Given the description of an element on the screen output the (x, y) to click on. 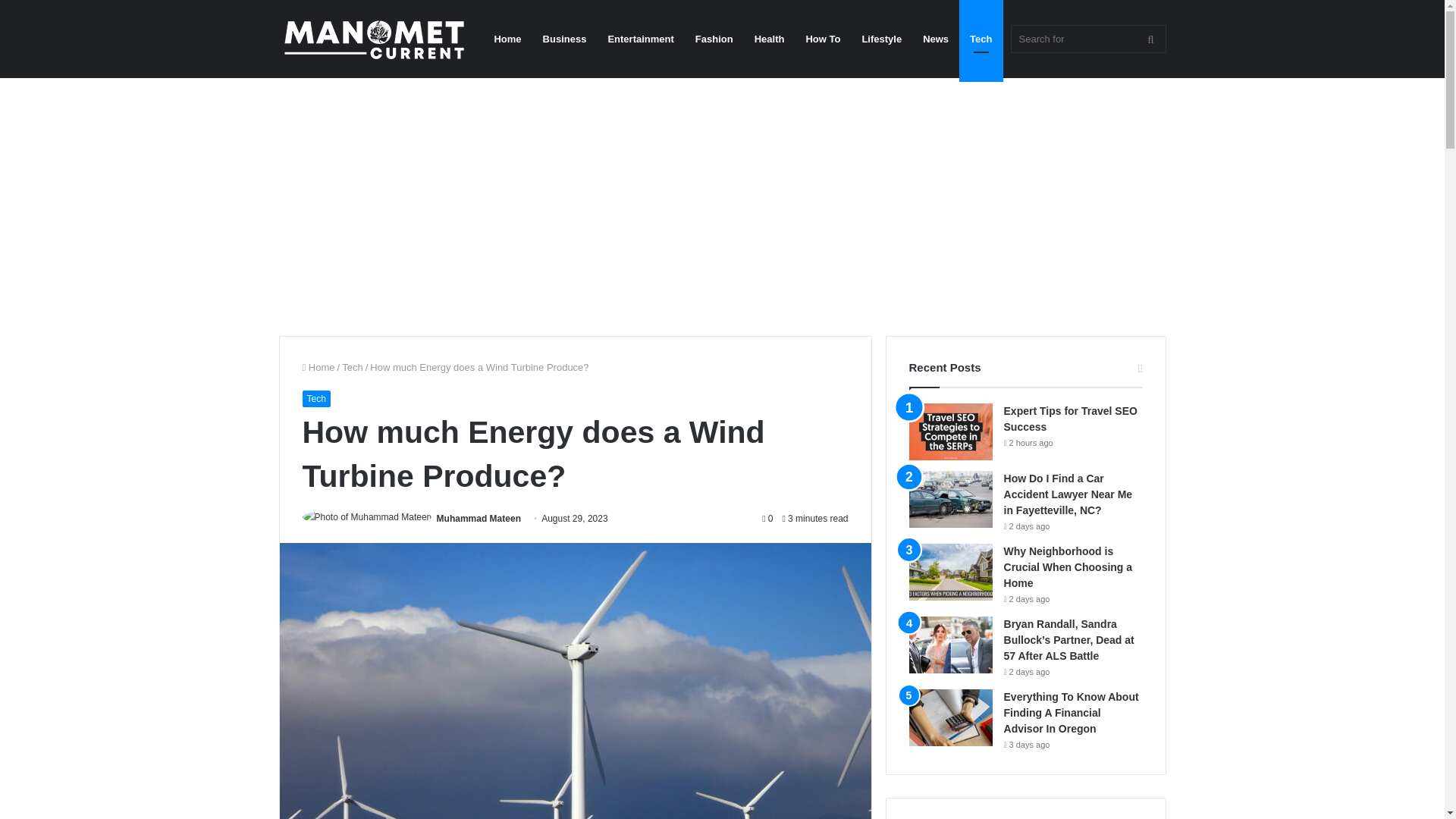
Entertainment (640, 38)
Muhammad Mateen (478, 518)
Search for (1088, 39)
Muhammad Mateen (478, 518)
Tech (352, 367)
Tech (315, 398)
Home (317, 367)
Manometcurrent (373, 39)
